Given the description of an element on the screen output the (x, y) to click on. 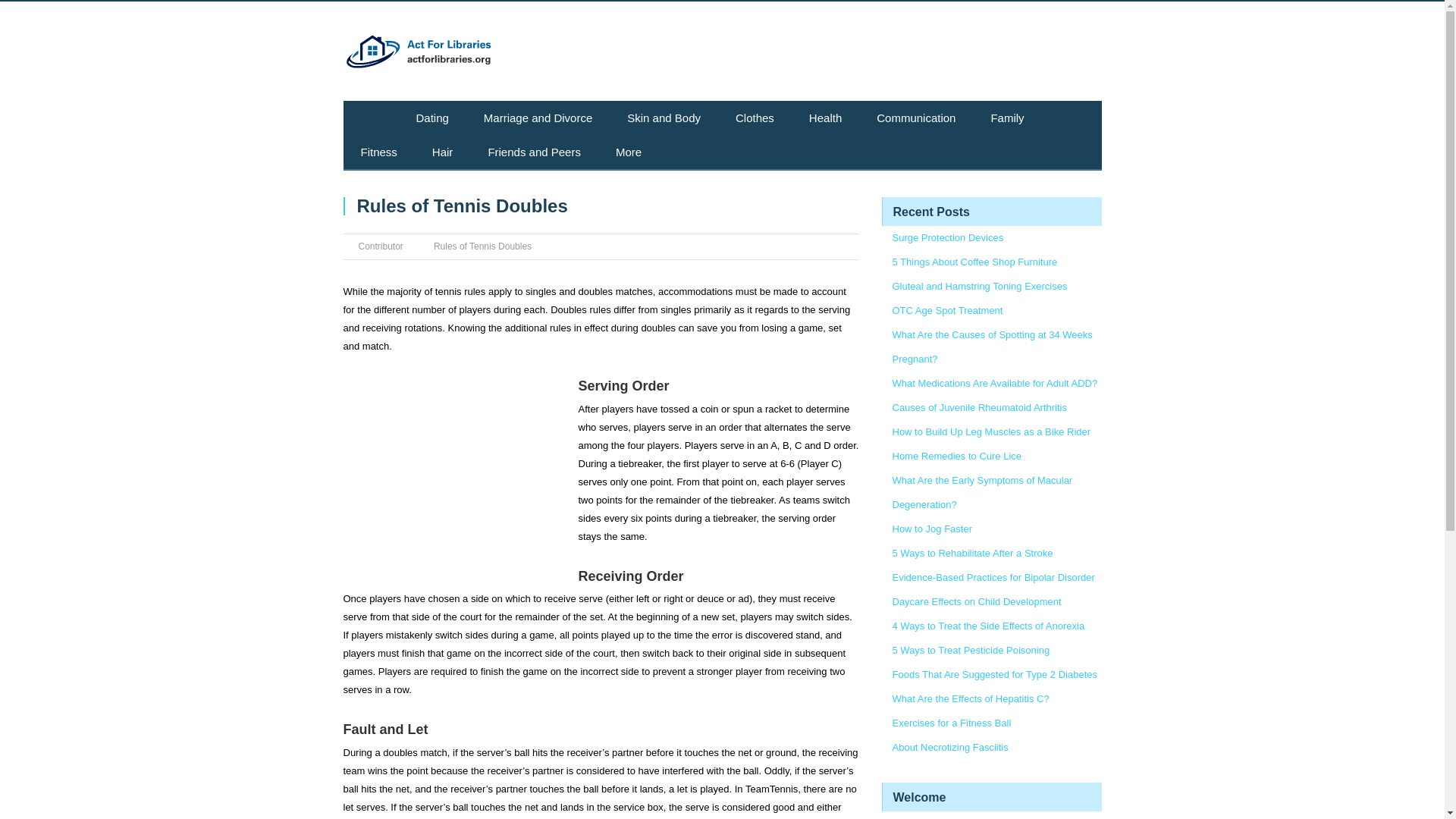
Fitness (377, 151)
Foods That Are Suggested for Type 2 Diabetes (994, 674)
Surge Protection Devices (947, 237)
Clothes (754, 117)
Home Remedies to Cure Lice (956, 455)
How to Build Up Leg Muscles as a Bike Rider (990, 431)
5 Ways to Treat Pesticide Poisoning (970, 650)
Causes of Juvenile Rheumatoid Arthritis (979, 407)
OTC Age Spot Treatment (947, 310)
Home Remedies to Cure Lice (956, 455)
5 Things About Coffee Shop Furniture (974, 261)
Dating (431, 117)
Causes of Juvenile Rheumatoid Arthritis (979, 407)
Contributor (380, 245)
What Are the Early Symptoms of Macular Degeneration? (981, 492)
